Given the description of an element on the screen output the (x, y) to click on. 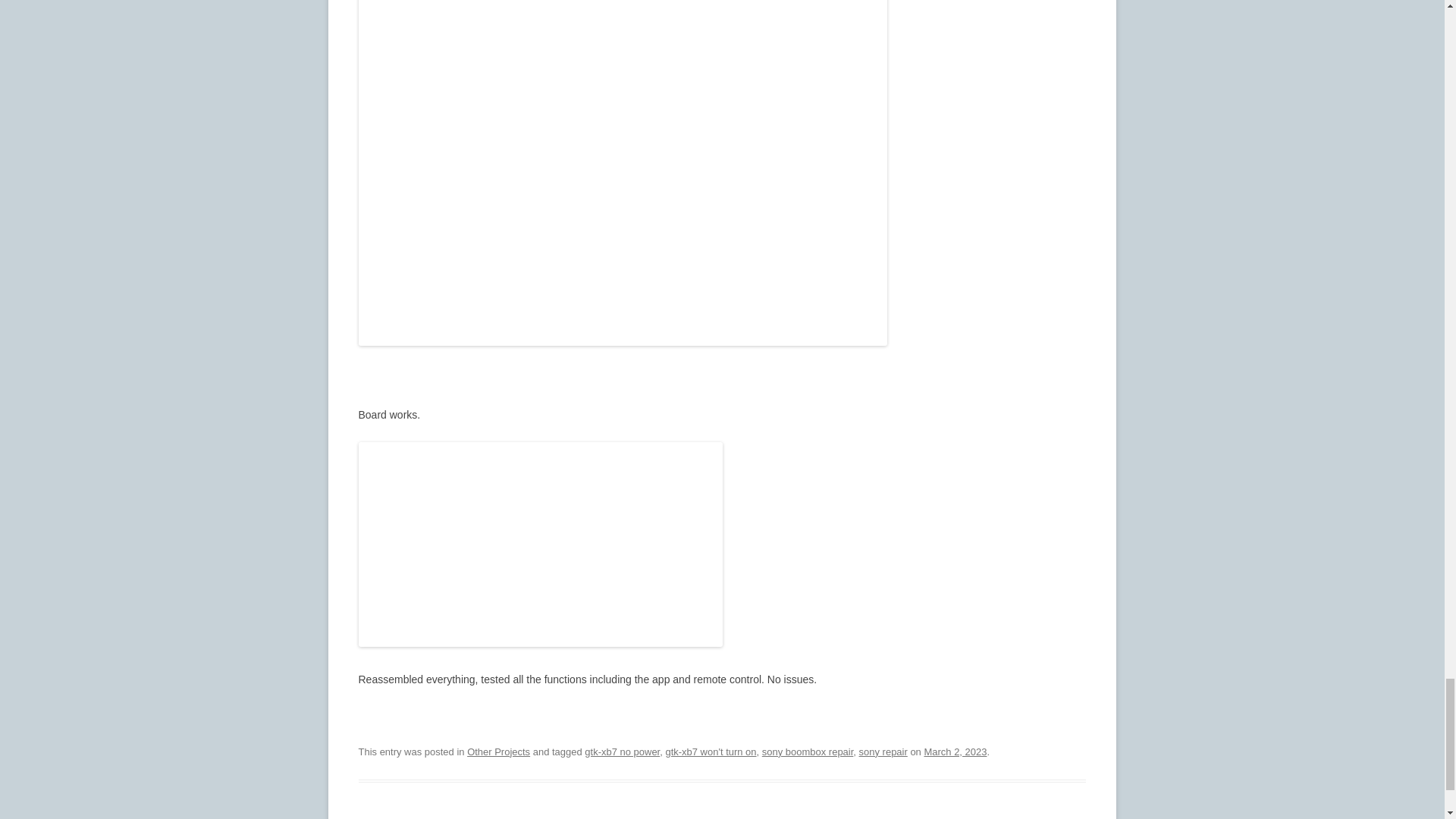
6:54 pm (955, 751)
March 2, 2023 (955, 751)
gtk-xb7 no power (622, 751)
Other Projects (498, 751)
sony repair (883, 751)
gtk-xb7 won't turn on (710, 751)
sony boombox repair (807, 751)
